Given the description of an element on the screen output the (x, y) to click on. 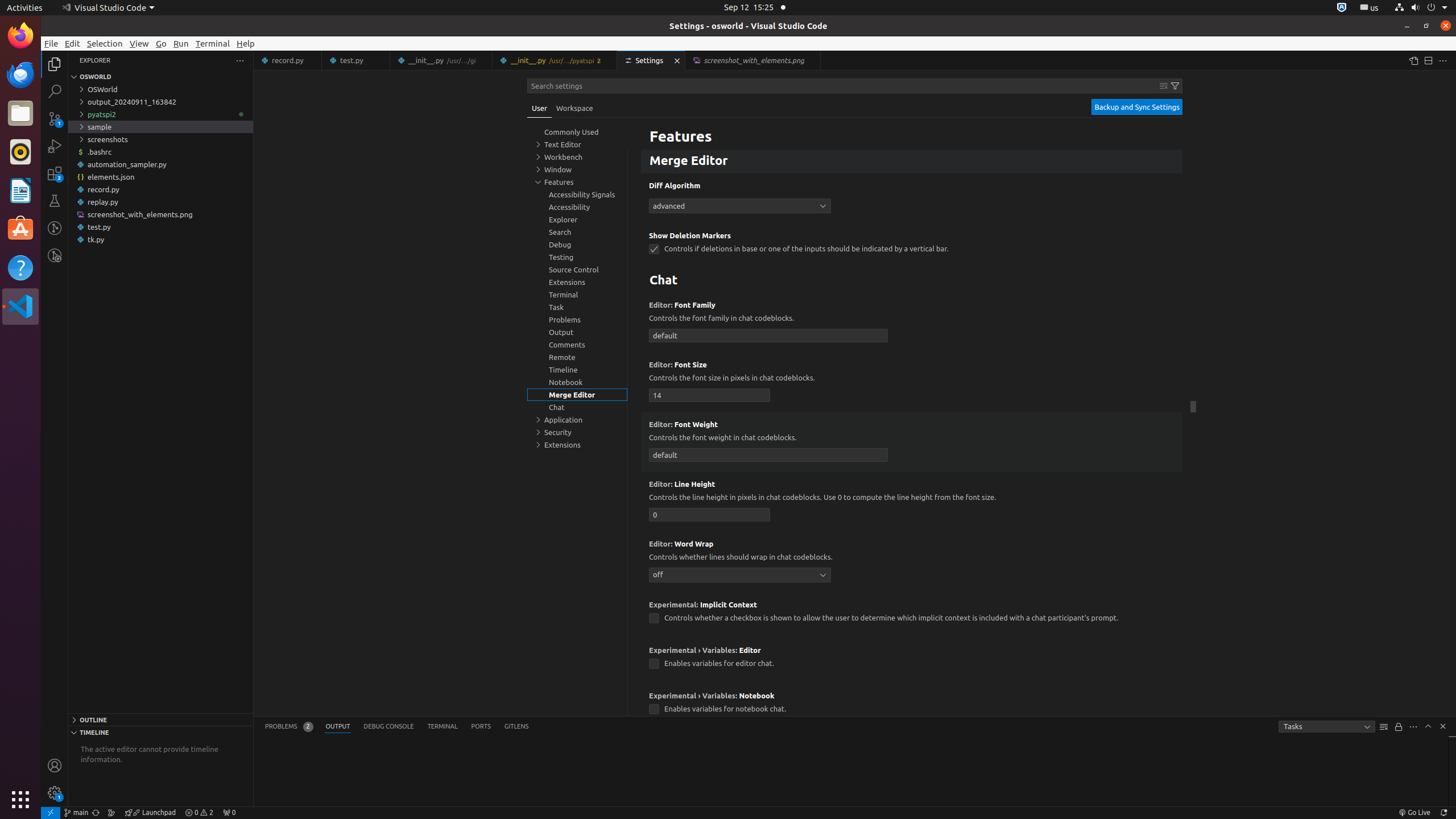
Testing Element type: page-tab (54, 200)
Ports Element type: page-tab (480, 726)
replay.py Element type: tree-item (160, 201)
rocket gitlens-unplug Launchpad, GitLens Launchpad ᴘʀᴇᴠɪᴇᴡ    &mdash;    [$(question)](command:gitlens.launchpad.indicator.action?%22info%22 "What is this?") [$(gear)](command:workbench.action.openSettings?%22gitlens.launchpad%22 "Settings")  |  [$(circle-slash) Hide](command:gitlens.launchpad.indicator.action?%22hide%22 "Hide") --- [Launchpad](command:gitlens.launchpad.indicator.action?%info%22 "Learn about Launchpad") organizes your pull requests into actionable groups to help you focus and keep your team unblocked. It's always accessible using the `GitLens: Open Launchpad` command from the Command Palette. --- [Connect an integration](command:gitlens.showLaunchpad?%7B%22source%22%3A%22launchpad-indicator%22%7D "Connect an integration") to get started. Element type: push-button (150, 812)
Views and More Actions... Element type: push-button (1413, 726)
